Given the description of an element on the screen output the (x, y) to click on. 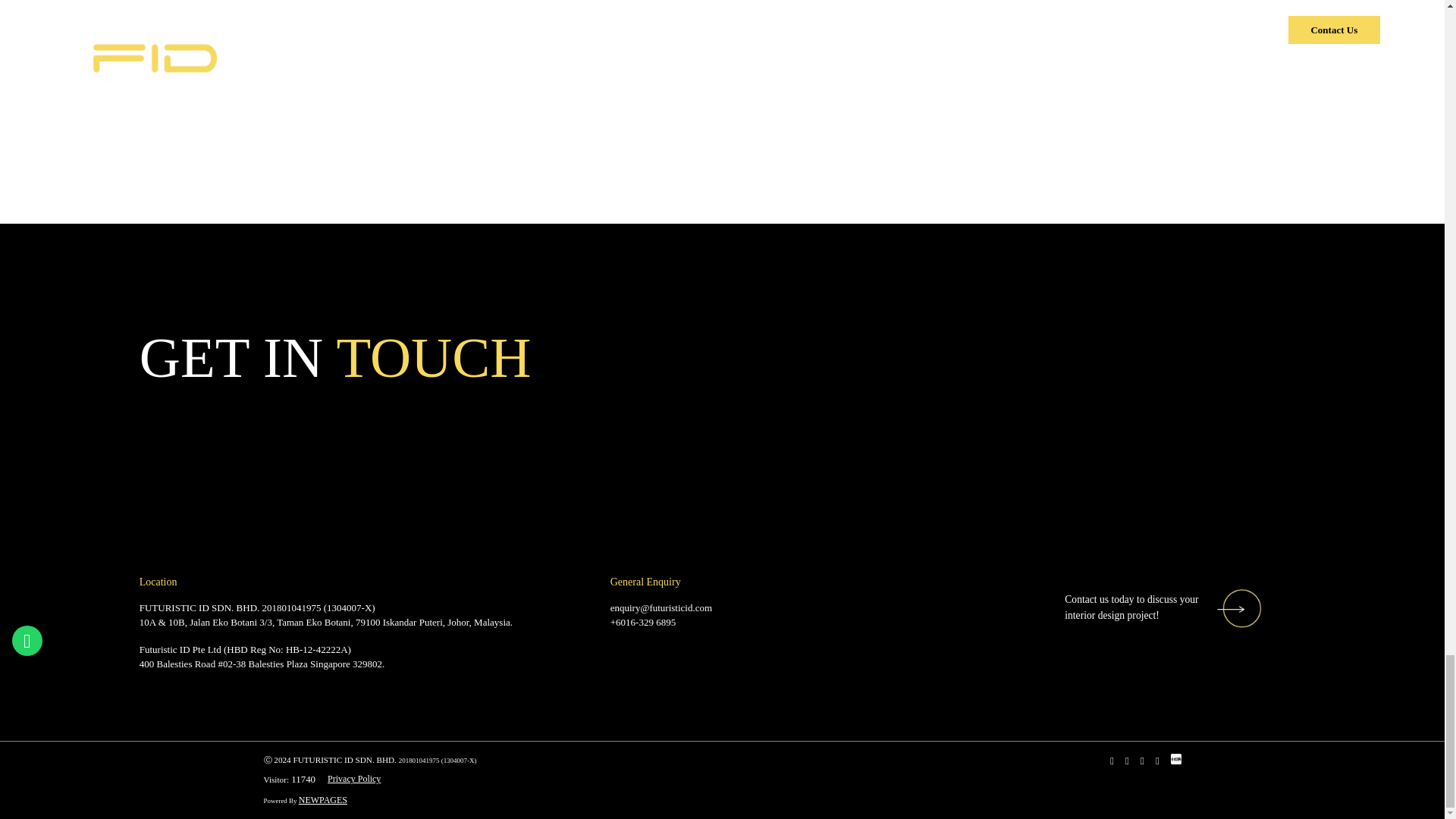
NEWPAGES (328, 799)
Contact us today to discuss your interior design project! (1163, 608)
Privacy Policy (353, 779)
